Given the description of an element on the screen output the (x, y) to click on. 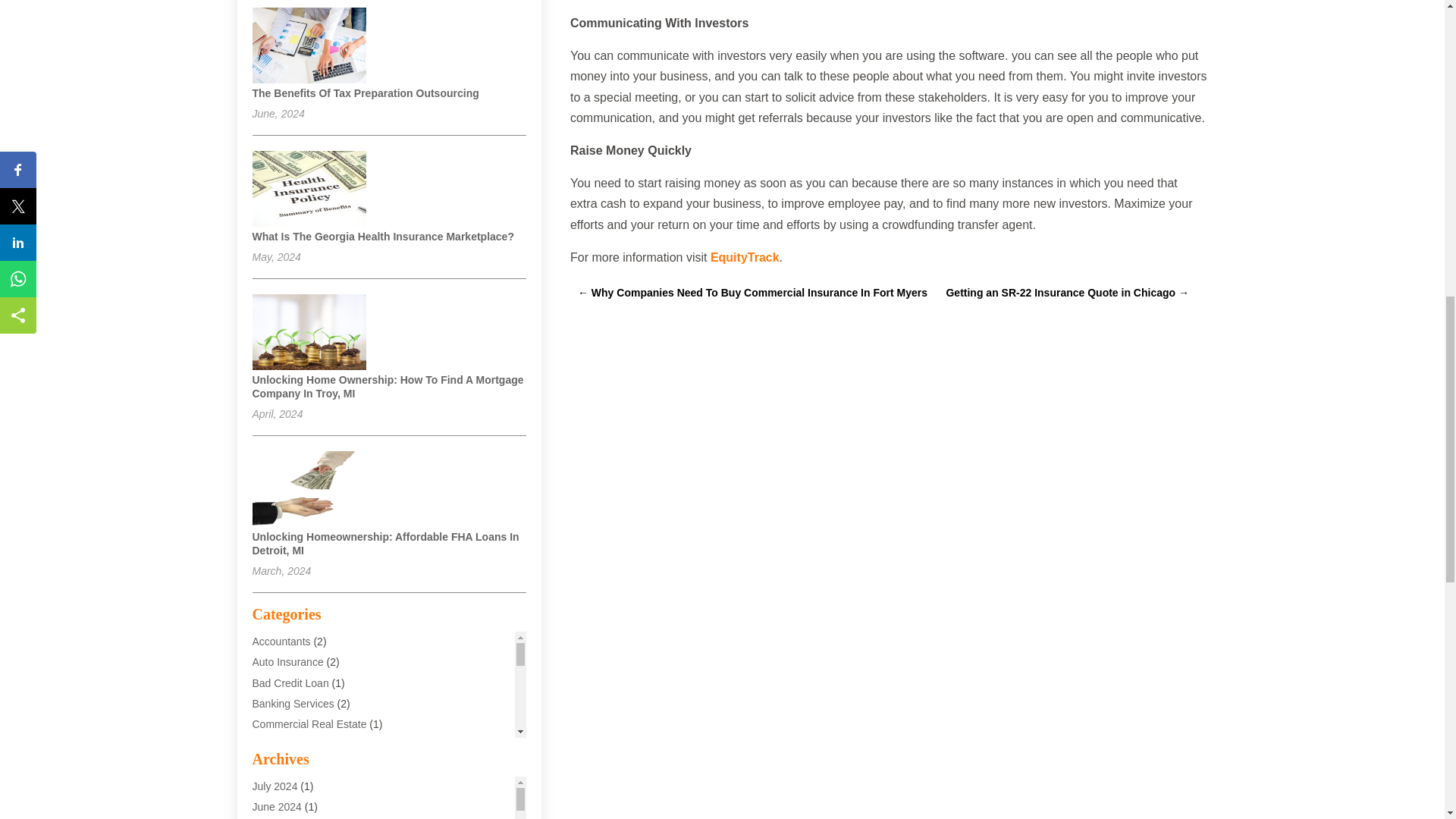
Banking Services (292, 703)
Commercial Real Estate (308, 724)
Currency Exchange Service (317, 765)
Finance (270, 785)
Auto Insurance (287, 662)
Finance Books (286, 806)
Bad Credit Loan (290, 683)
What Is The Georgia Health Insurance Marketplace? (382, 236)
Unlocking Homeownership: Affordable FHA Loans In Detroit, MI (384, 543)
The Benefits Of Tax Preparation Outsourcing (365, 92)
Counselor (275, 744)
Accountants (280, 641)
